Given the description of an element on the screen output the (x, y) to click on. 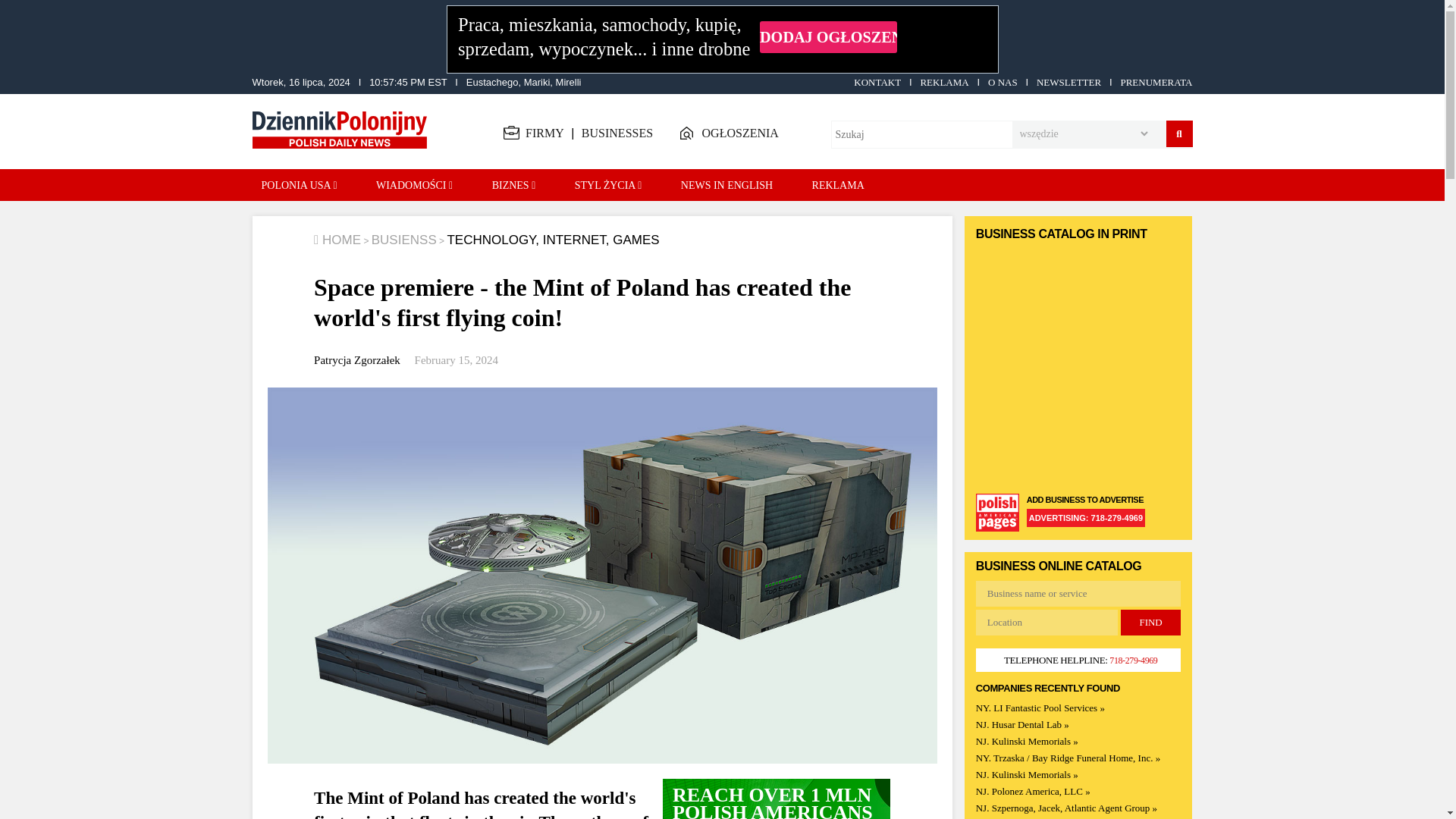
FIND (1150, 622)
